Given the description of an element on the screen output the (x, y) to click on. 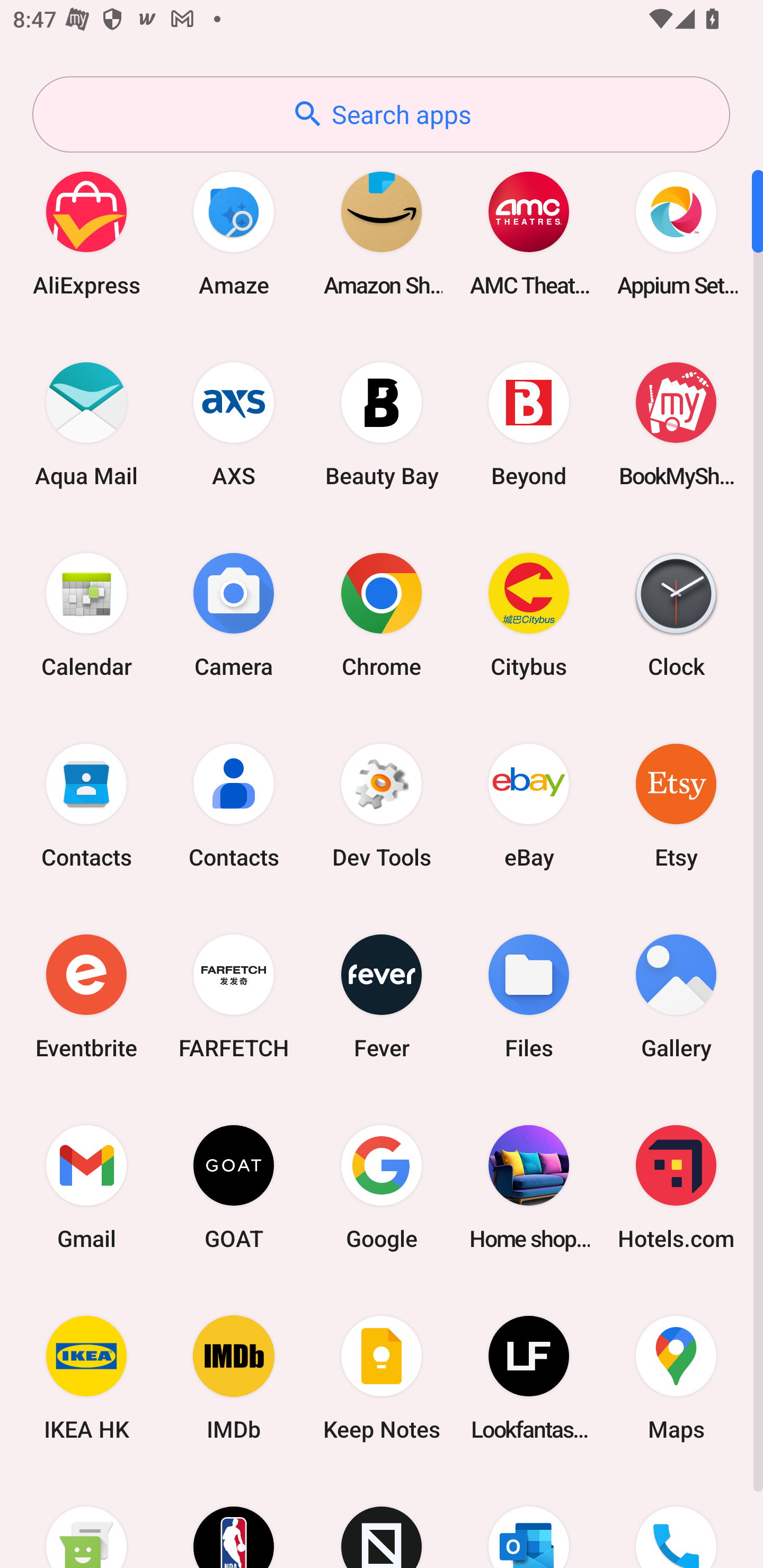
  Search apps (381, 114)
AliExpress (86, 233)
Amaze (233, 233)
Amazon Shopping (381, 233)
AMC Theatres (528, 233)
Appium Settings (676, 233)
Aqua Mail (86, 424)
AXS (233, 424)
Beauty Bay (381, 424)
Beyond (528, 424)
BookMyShow (676, 424)
Calendar (86, 614)
Camera (233, 614)
Chrome (381, 614)
Citybus (528, 614)
Clock (676, 614)
Contacts (86, 805)
Contacts (233, 805)
Dev Tools (381, 805)
eBay (528, 805)
Etsy (676, 805)
Eventbrite (86, 996)
FARFETCH (233, 996)
Fever (381, 996)
Files (528, 996)
Gallery (676, 996)
Gmail (86, 1186)
GOAT (233, 1186)
Google (381, 1186)
Home shopping (528, 1186)
Hotels.com (676, 1186)
IKEA HK (86, 1377)
IMDb (233, 1377)
Keep Notes (381, 1377)
Lookfantastic (528, 1377)
Maps (676, 1377)
